Given the description of an element on the screen output the (x, y) to click on. 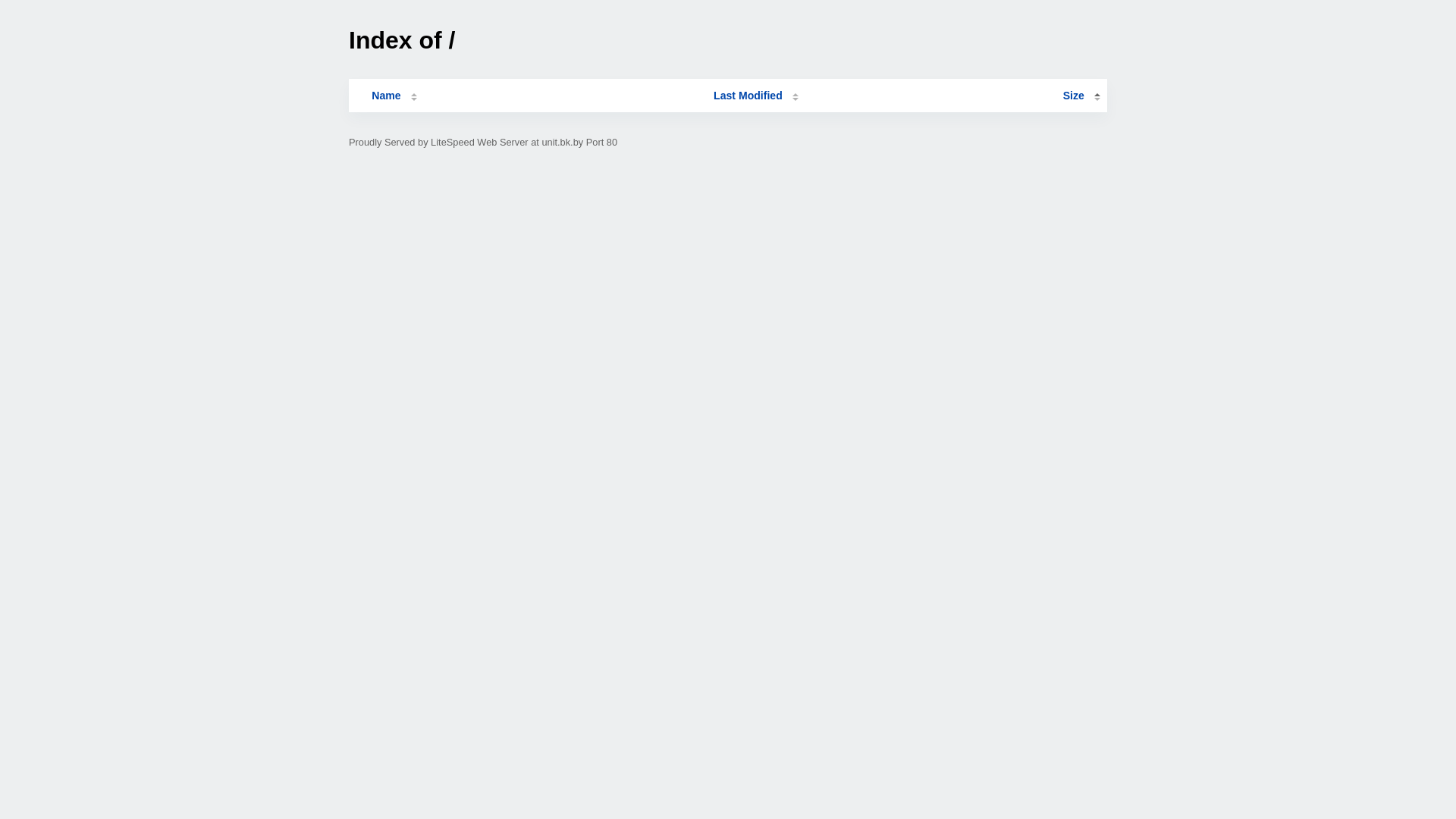
Name Element type: text (385, 95)
Last Modified Element type: text (755, 95)
Size Element type: text (1081, 95)
